Given the description of an element on the screen output the (x, y) to click on. 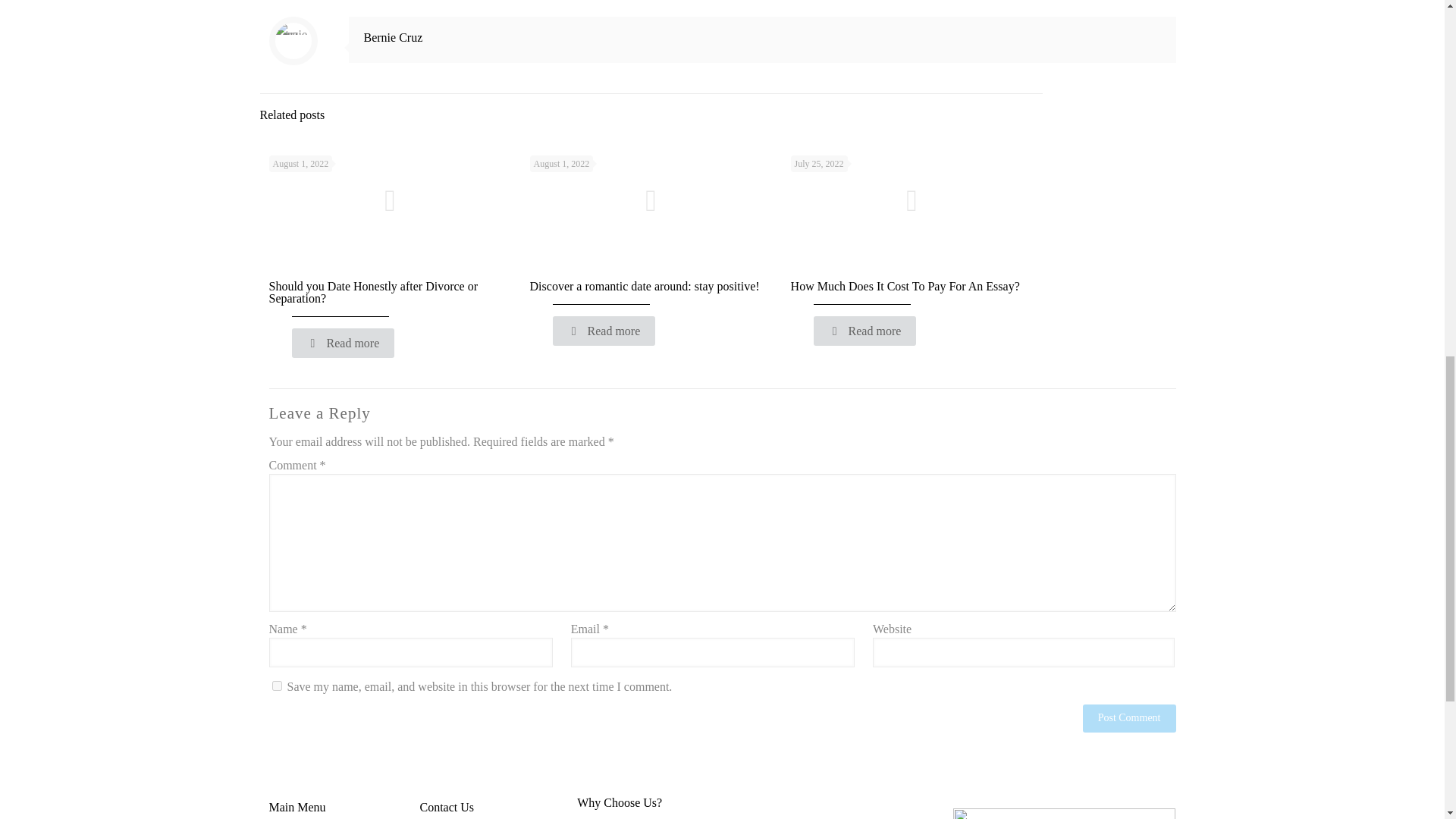
Read more (342, 342)
How Much Does It Cost To Pay For An Essay? (905, 286)
yes (275, 685)
Post Comment (1129, 718)
Read more (604, 330)
Should you Date Honestly after Divorce or Separation? (372, 292)
Post Comment (1129, 718)
Discover a romantic date around: stay positive! (644, 286)
Read more (865, 330)
Bernie Cruz (393, 37)
